Given the description of an element on the screen output the (x, y) to click on. 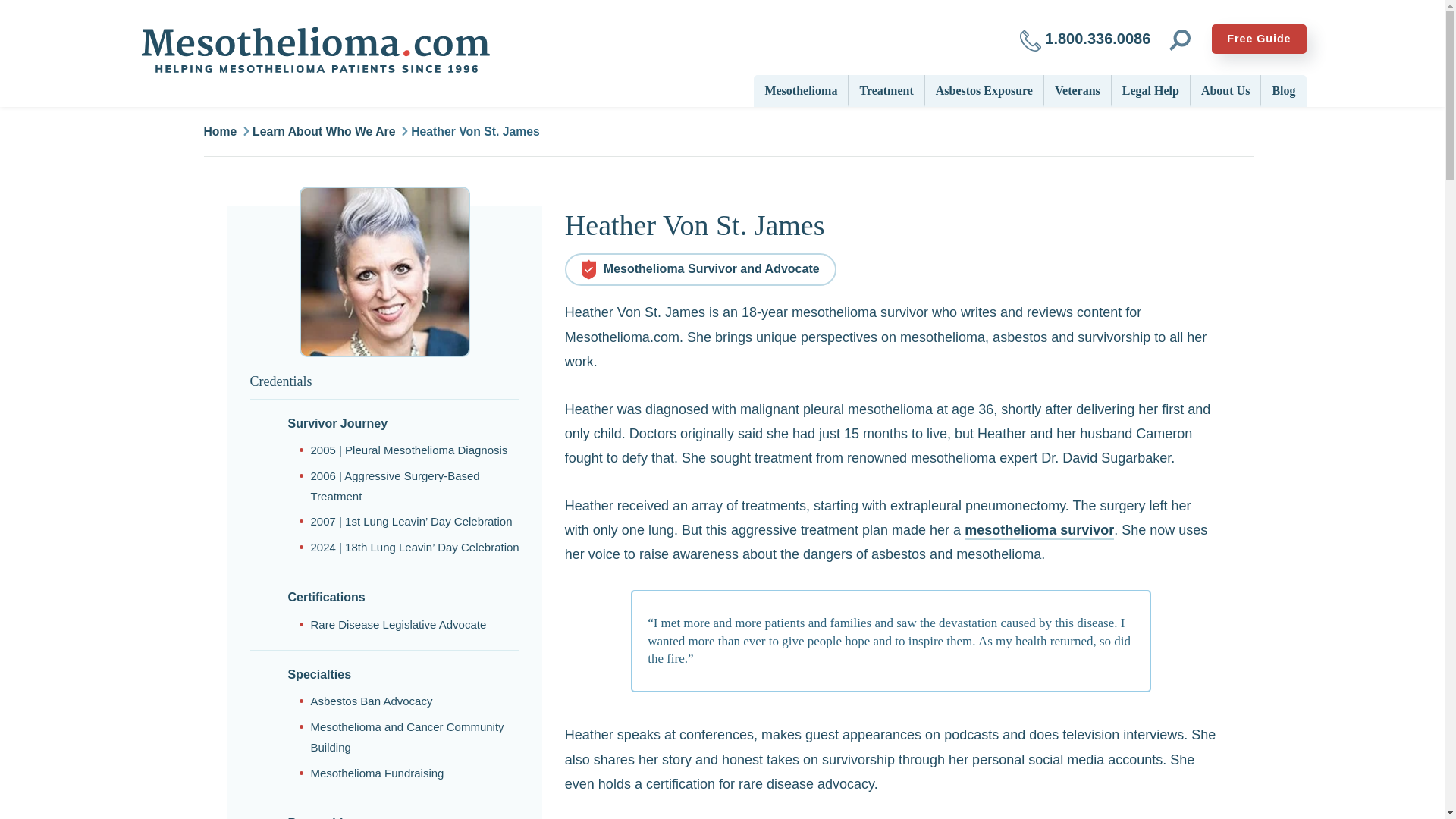
1.800.336.0086 (1084, 39)
Mesothelioma (800, 89)
Asbestos Exposure (983, 89)
Treatment (885, 89)
Free Guide (1258, 39)
Home (314, 49)
